Given the description of an element on the screen output the (x, y) to click on. 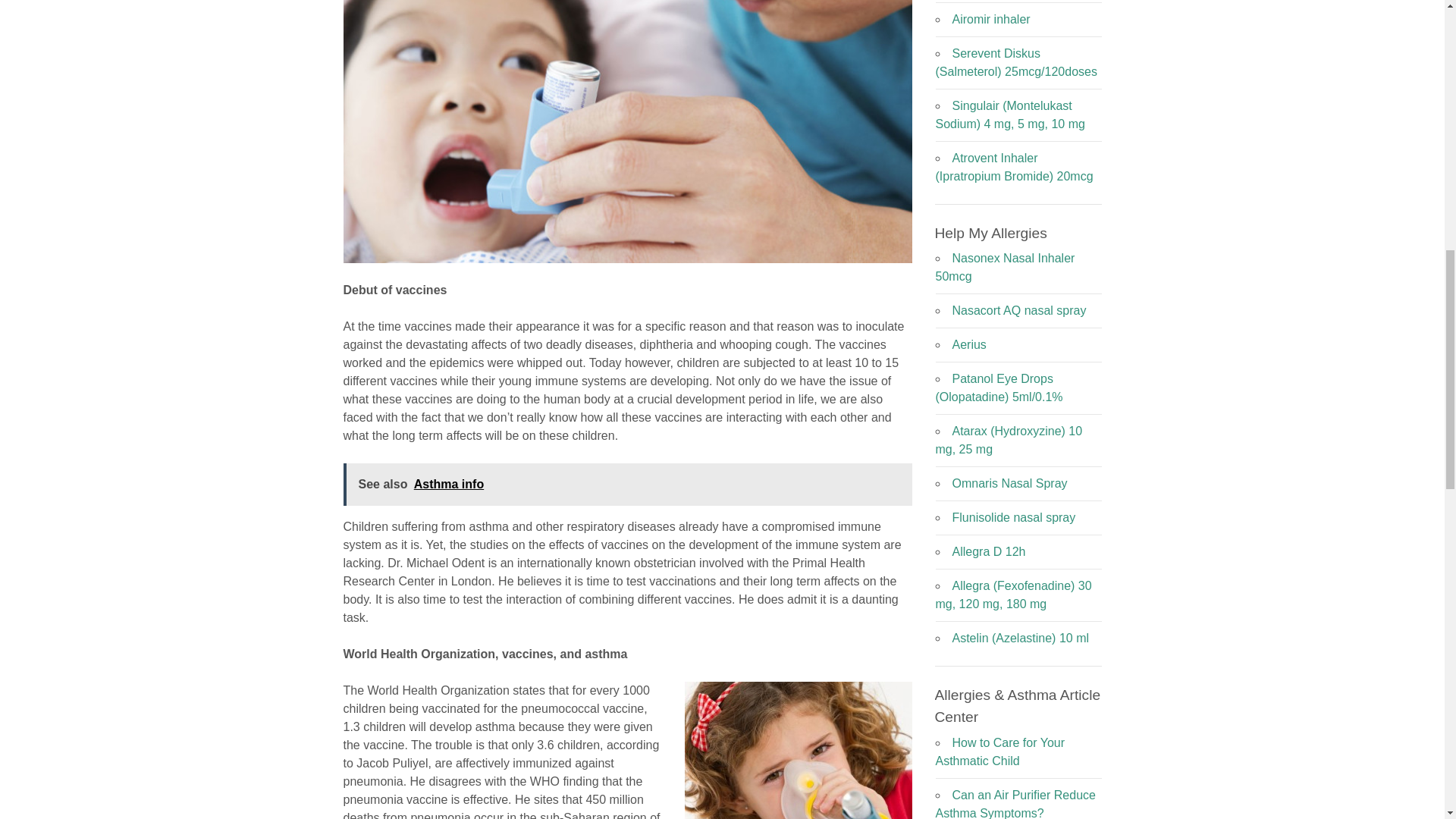
World Health Organization, vaccines, and asthma (797, 750)
Airomir inhaler (991, 19)
How to Care for Your Asthmatic Child (1000, 751)
Aerius (969, 344)
Airomir inhaler (991, 19)
Allegra D 12h (989, 551)
Nasacort AQ nasal spray (1019, 309)
Can an Air Purifier Reduce Asthma Symptoms? (1016, 803)
Flunisolide nasal spray (1013, 517)
Nasonex Nasal Inhaler 50mcg (1005, 266)
Omnaris Nasal Spray (1009, 482)
See also  Asthma info (626, 484)
